Given the description of an element on the screen output the (x, y) to click on. 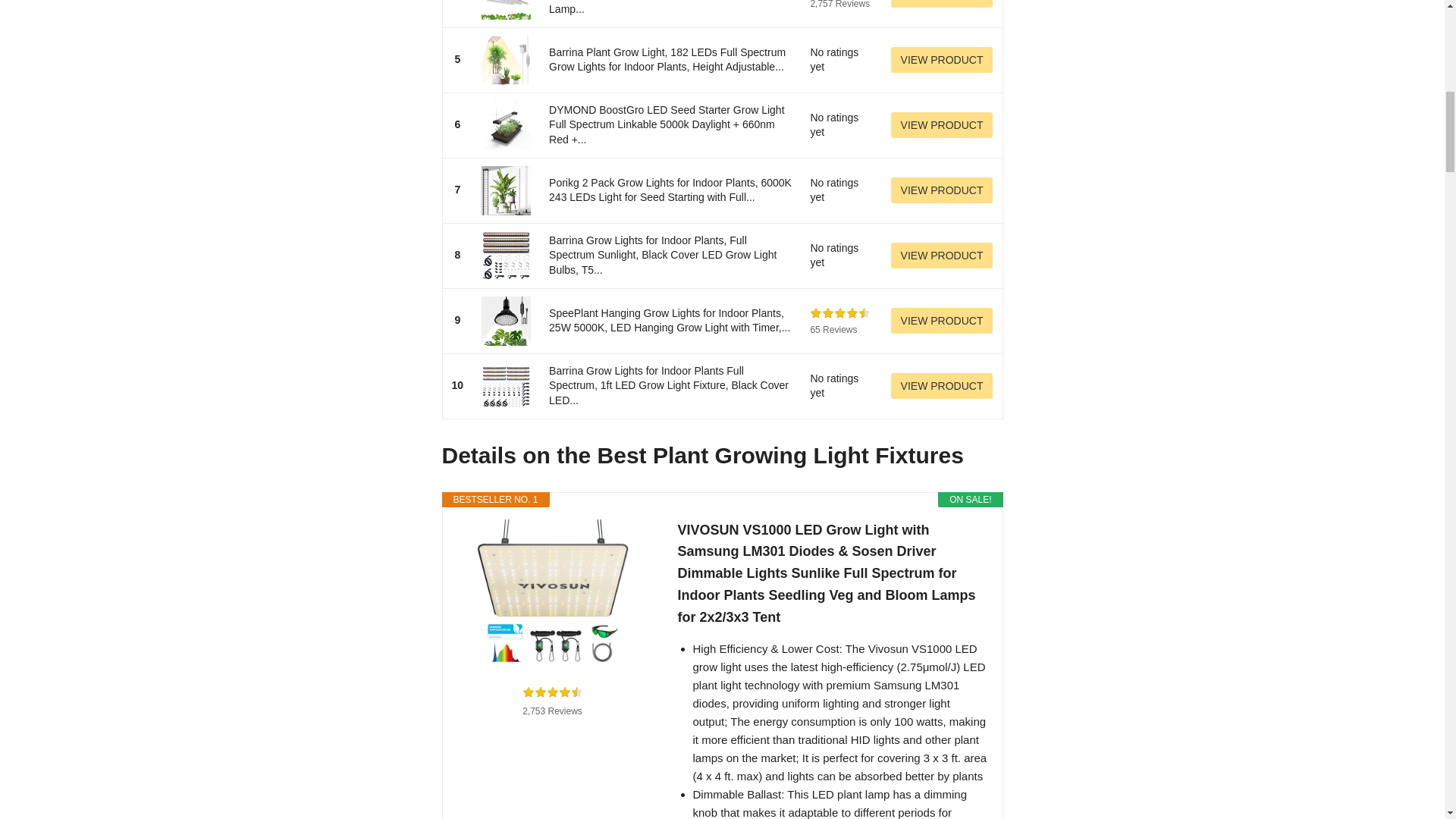
VIEW PRODUCT (941, 125)
VIEW PRODUCT (941, 255)
VIEW PRODUCT (941, 190)
VIEW PRODUCT (941, 3)
VIEW PRODUCT (941, 385)
VIEW PRODUCT (941, 59)
